Given the description of an element on the screen output the (x, y) to click on. 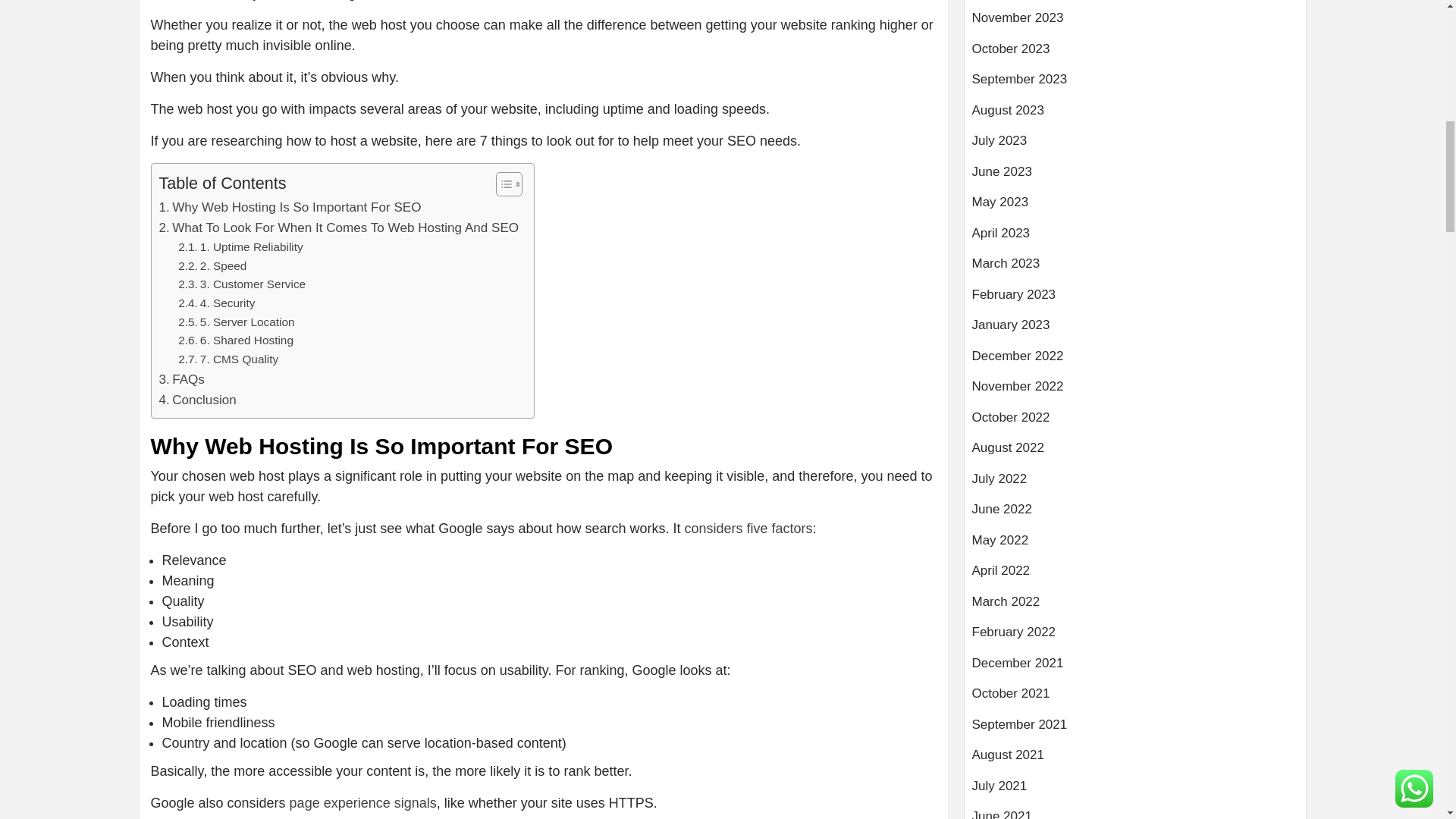
Why Web Hosting Is So Important For SEO (290, 207)
What To Look For When It Comes To Web Hosting And SEO (338, 227)
What To Look For When It Comes To Web Hosting And SEO (338, 227)
5. Server Location (236, 322)
Conclusion (196, 399)
Why Web Hosting Is So Important For SEO (290, 207)
1. Uptime Reliability (239, 247)
6. Shared Hosting (235, 340)
4. Security (215, 303)
7. CMS Quality (227, 359)
